Given the description of an element on the screen output the (x, y) to click on. 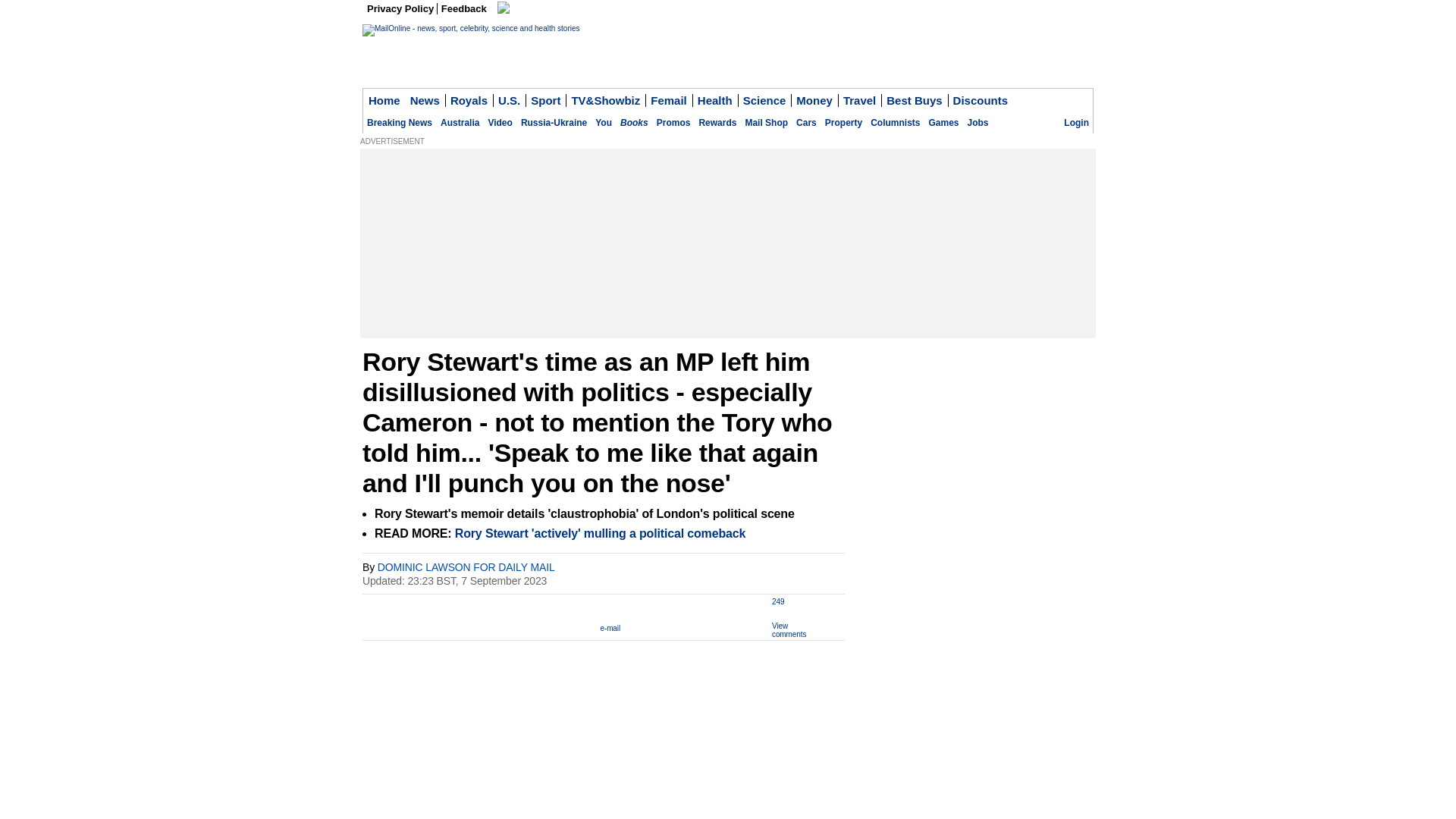
Science (765, 100)
Discounts (980, 100)
Australia (460, 122)
Femail (669, 100)
Promos (673, 122)
Rewards (717, 122)
Best Buys (913, 100)
U.S. (509, 100)
Russia-Ukraine (553, 122)
News (425, 100)
